Given the description of an element on the screen output the (x, y) to click on. 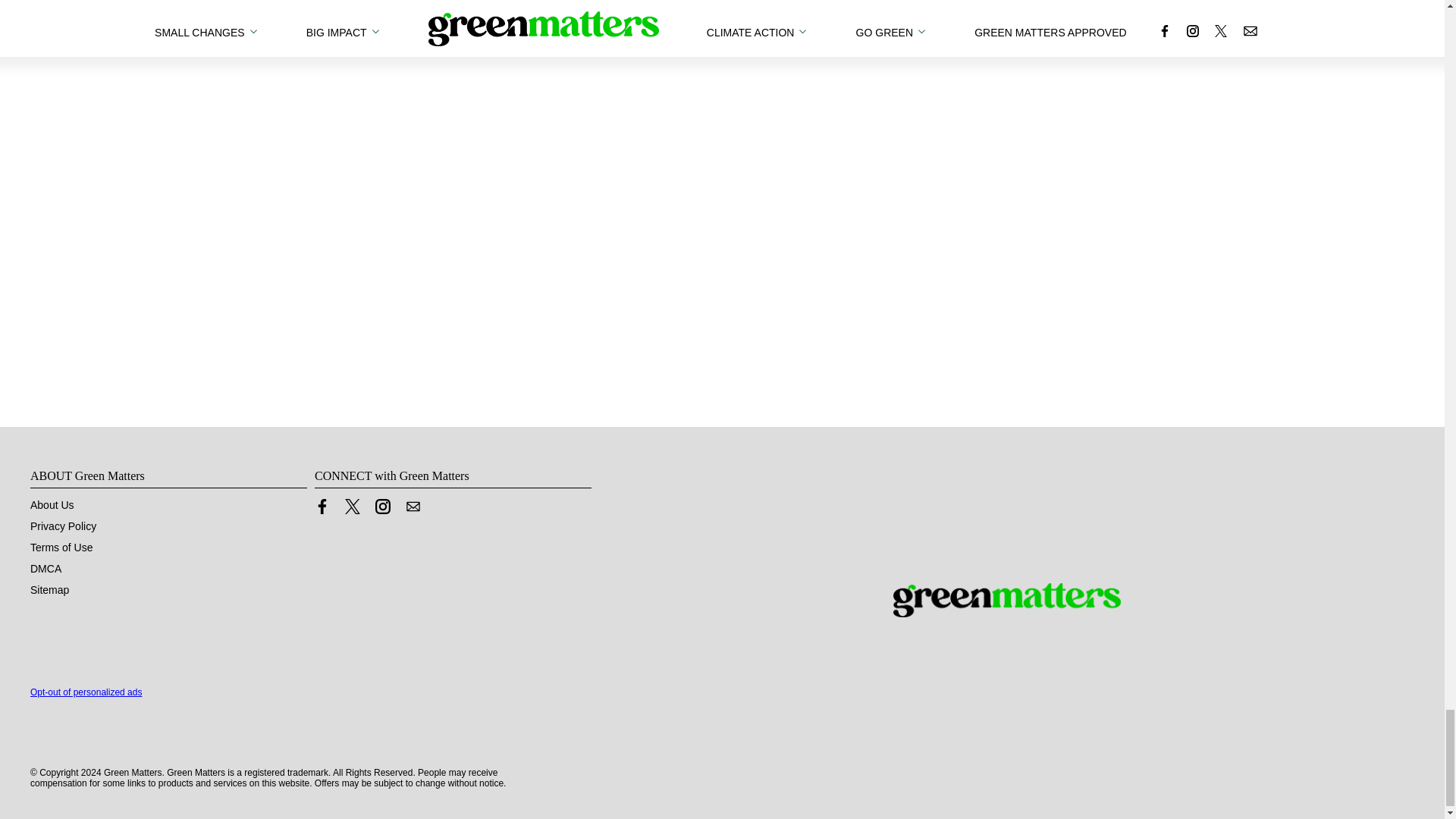
About Us (52, 504)
Terms of Use (61, 547)
Link to X (352, 506)
DMCA (45, 568)
Privacy Policy (63, 526)
Contact us by Email (413, 506)
Link to Instagram (382, 506)
Link to Facebook (322, 506)
Sitemap (49, 589)
